Given the description of an element on the screen output the (x, y) to click on. 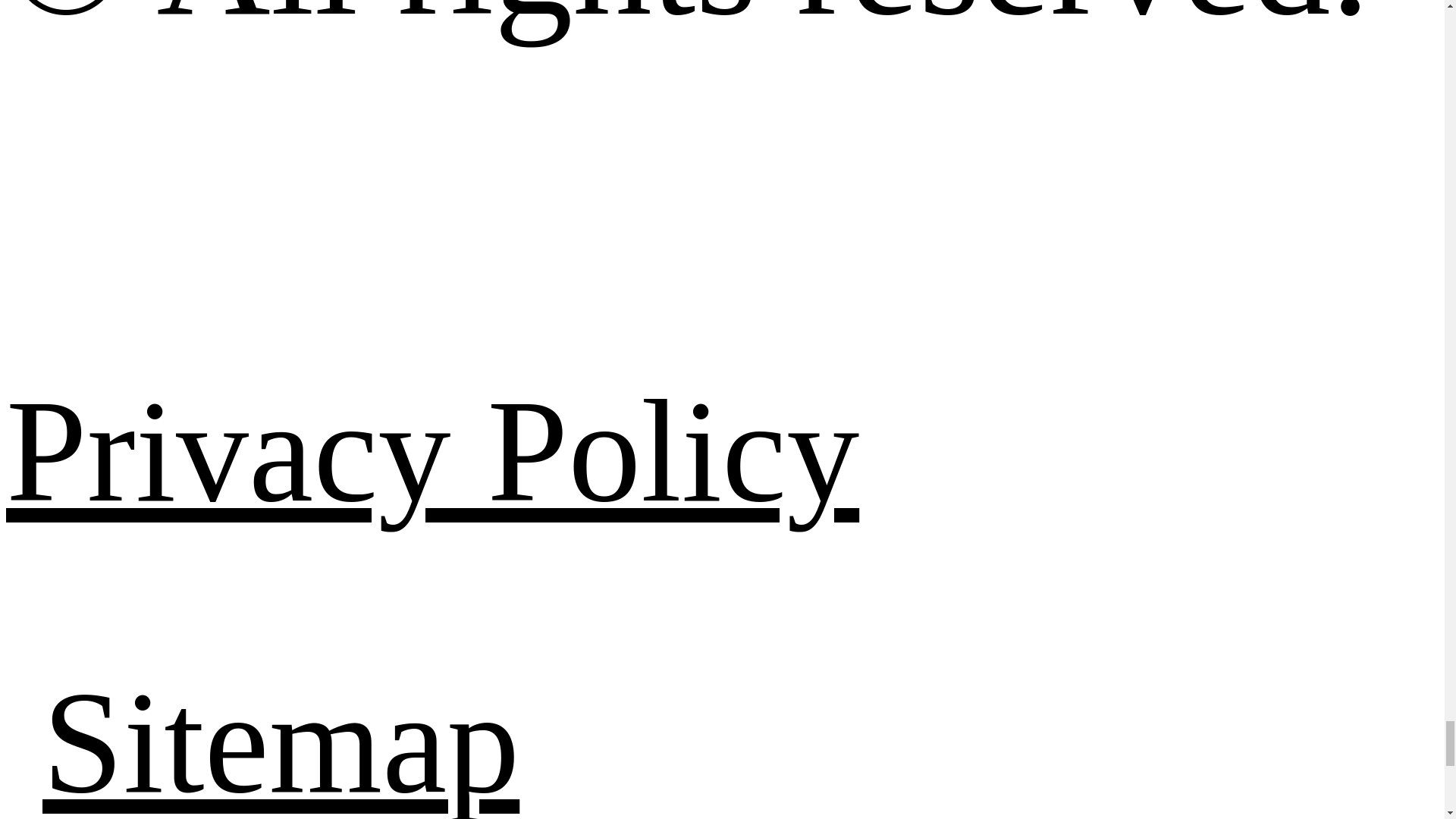
Sitemap (280, 740)
